Given the description of an element on the screen output the (x, y) to click on. 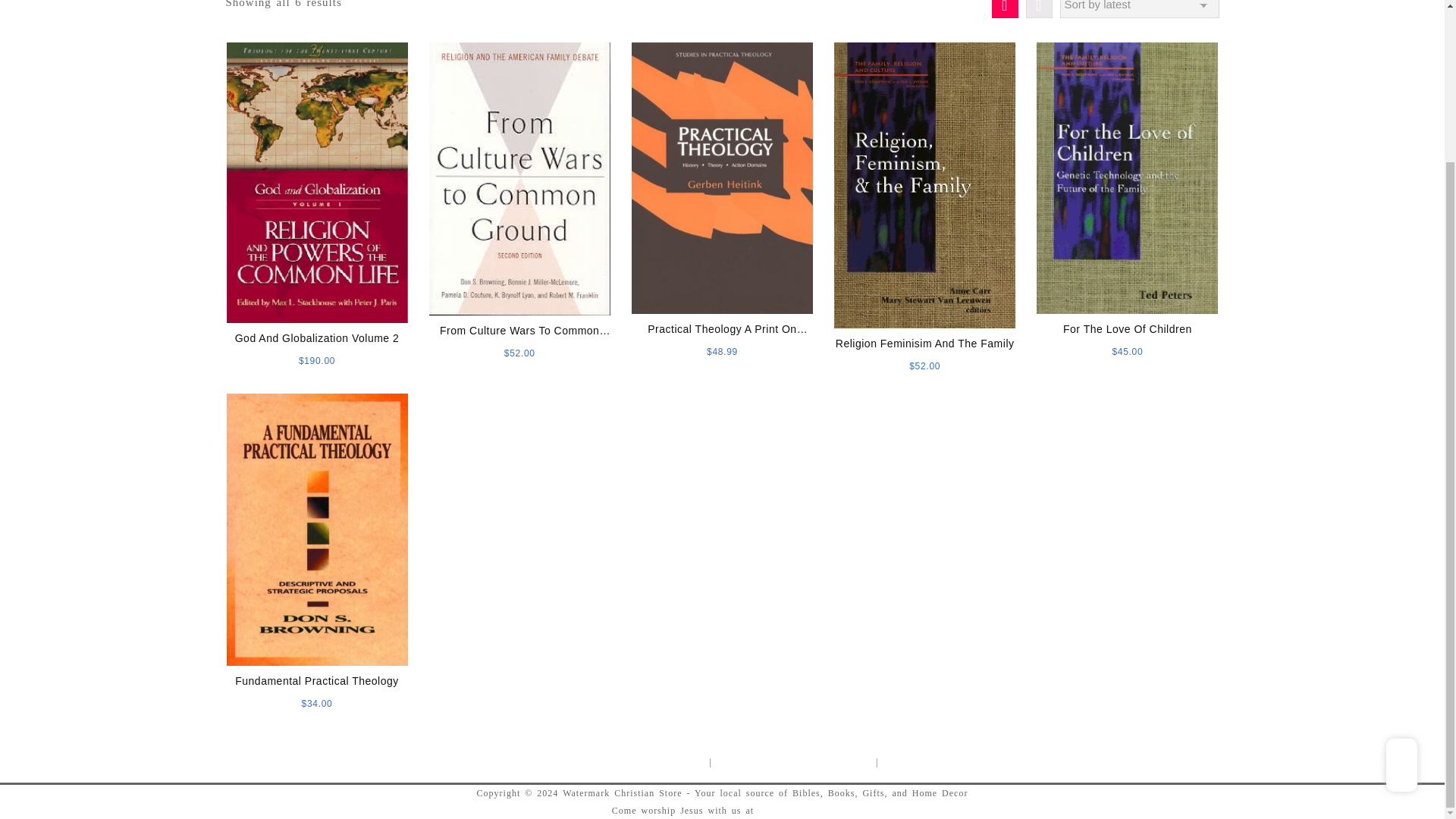
Grid View (1004, 9)
List View (1038, 9)
